Given the description of an element on the screen output the (x, y) to click on. 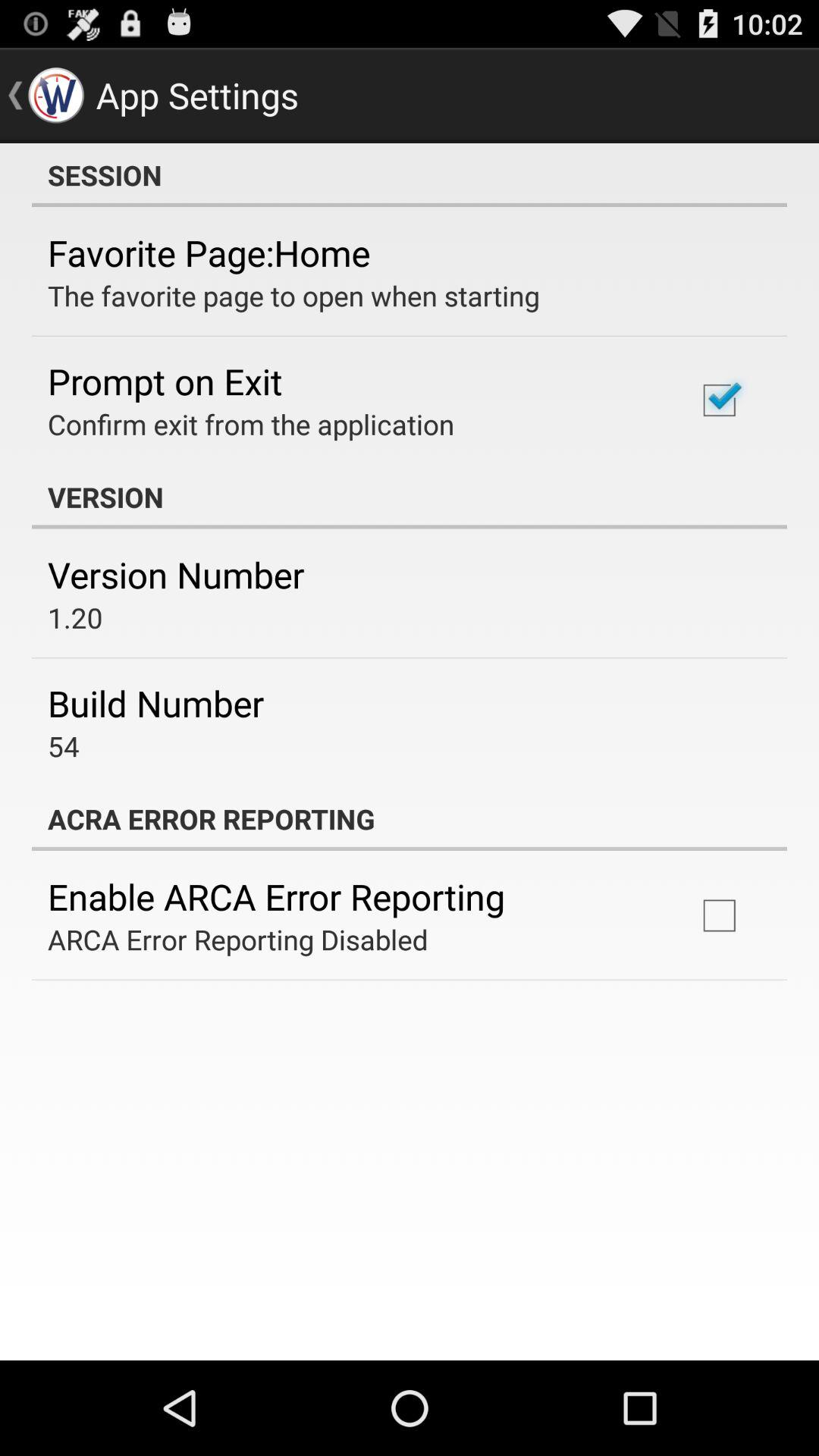
swipe until session app (409, 175)
